Given the description of an element on the screen output the (x, y) to click on. 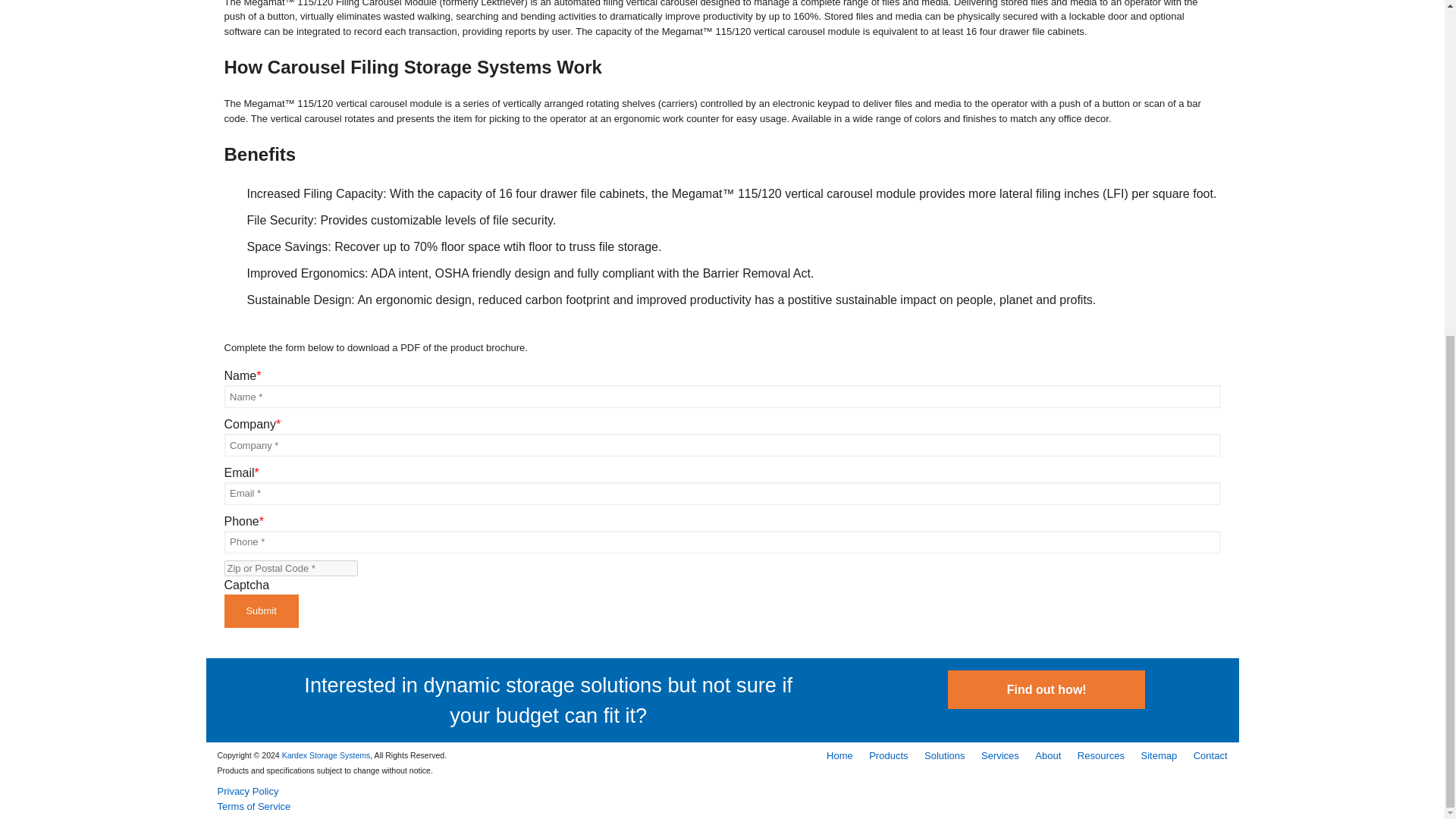
Find out how! (1045, 689)
Submit (261, 611)
